Given the description of an element on the screen output the (x, y) to click on. 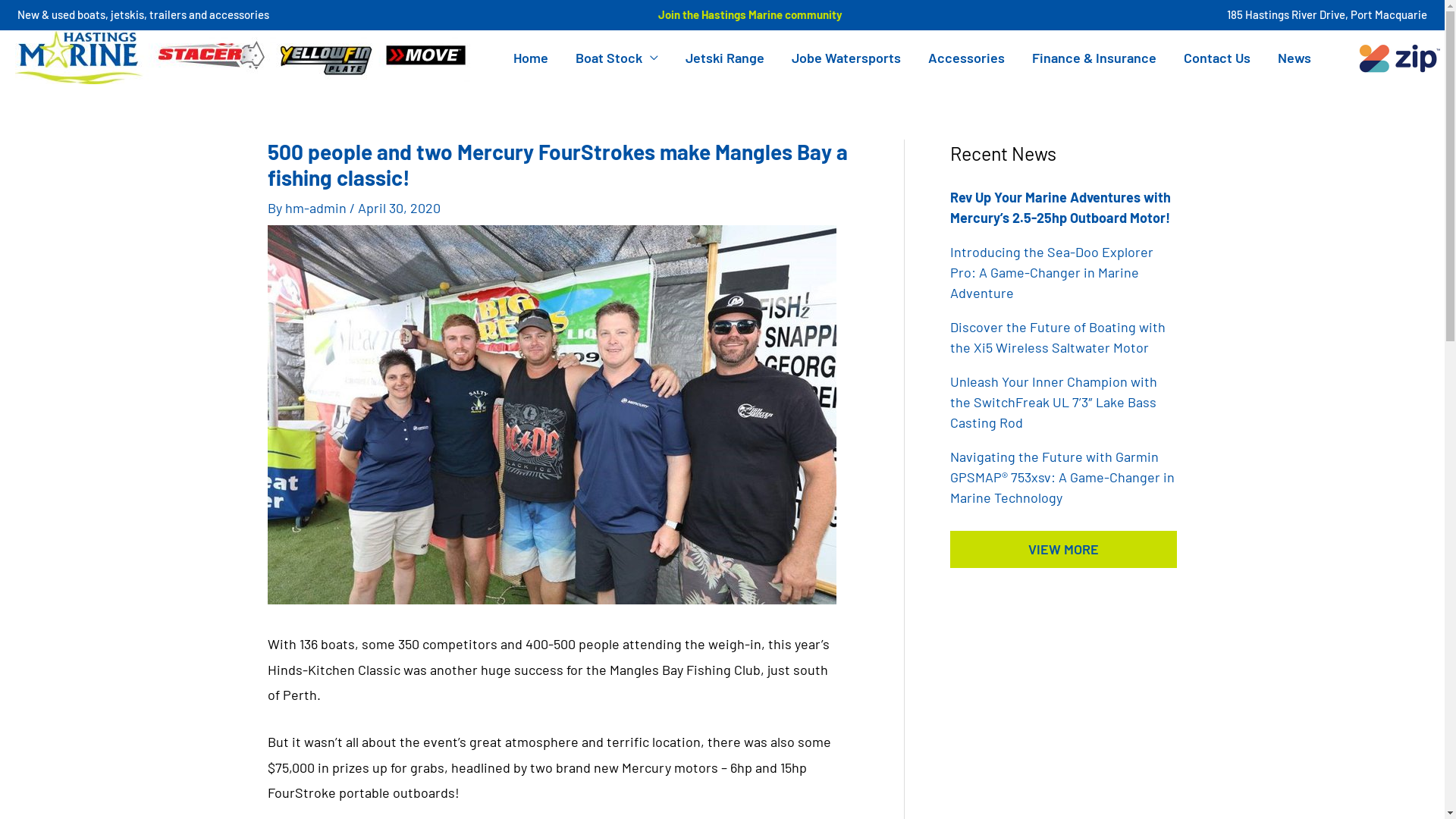
hm-admin Element type: text (317, 207)
  Join the Hastings Marine community Element type: text (747, 14)
News Element type: text (1294, 57)
Accessories Element type: text (966, 57)
Jetski Range Element type: text (724, 57)
Contact Us Element type: text (1217, 57)
Jobe Watersports Element type: text (846, 57)
VIEW MORE Element type: text (1062, 548)
Home Element type: text (530, 57)
Finance & Insurance Element type: text (1094, 57)
Boat Stock Element type: text (616, 57)
